Given the description of an element on the screen output the (x, y) to click on. 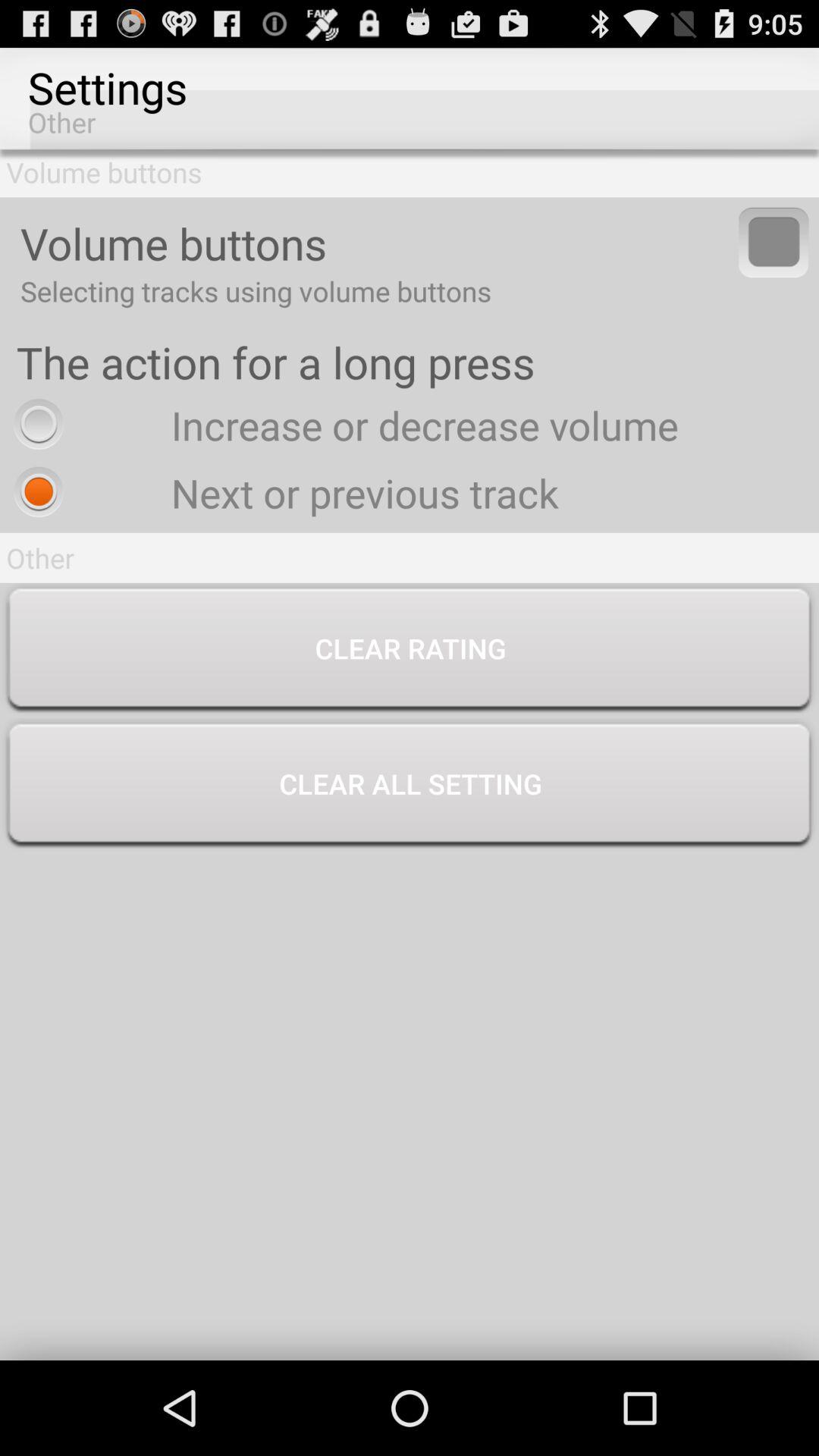
open item next to volume buttons app (773, 242)
